Given the description of an element on the screen output the (x, y) to click on. 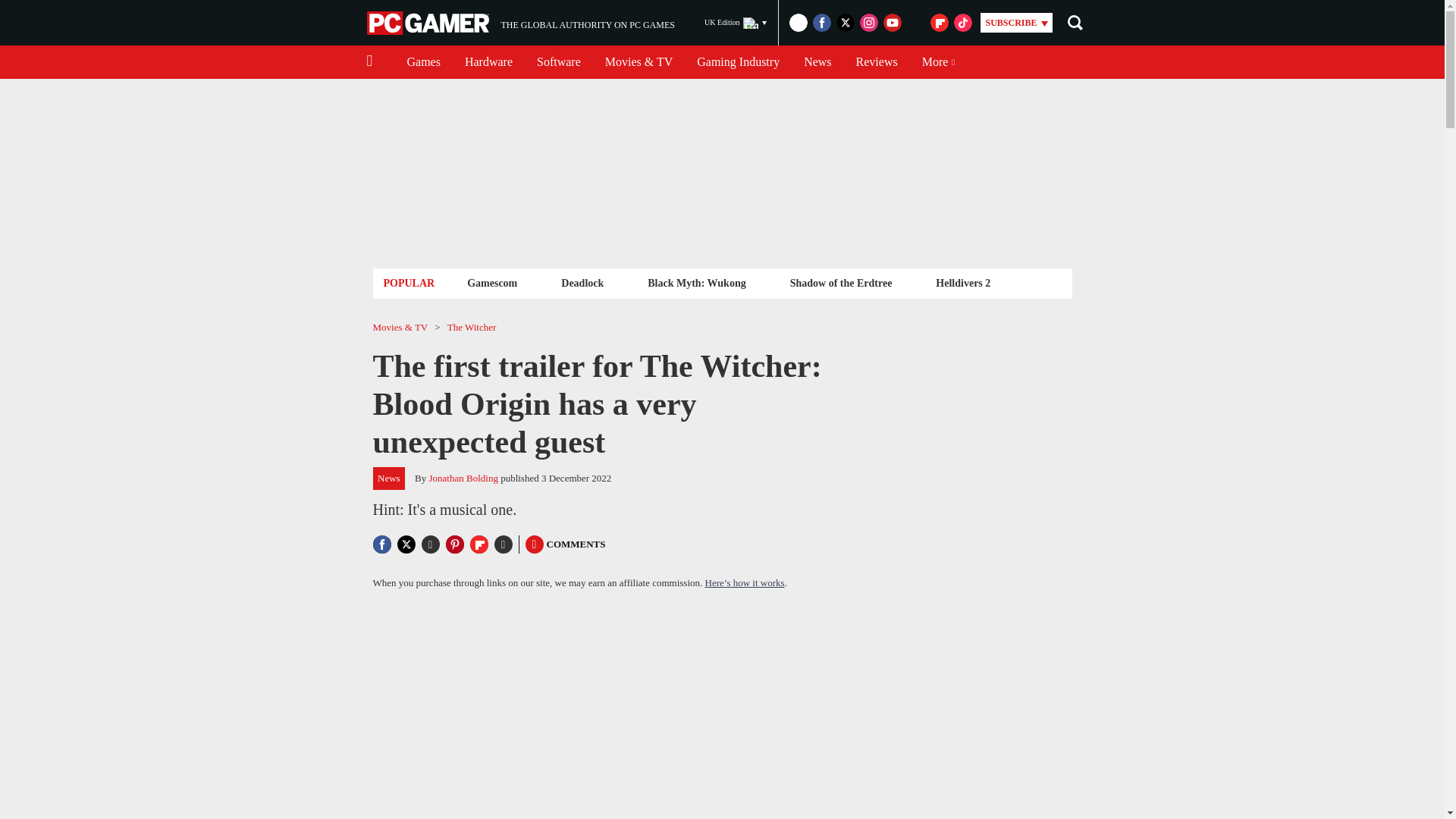
Hardware (488, 61)
Gaming Industry (738, 61)
PC Gamer (429, 22)
Games (422, 61)
Deadlock (582, 282)
UK Edition (735, 22)
News (520, 22)
Software (817, 61)
Gamescom (558, 61)
